Given the description of an element on the screen output the (x, y) to click on. 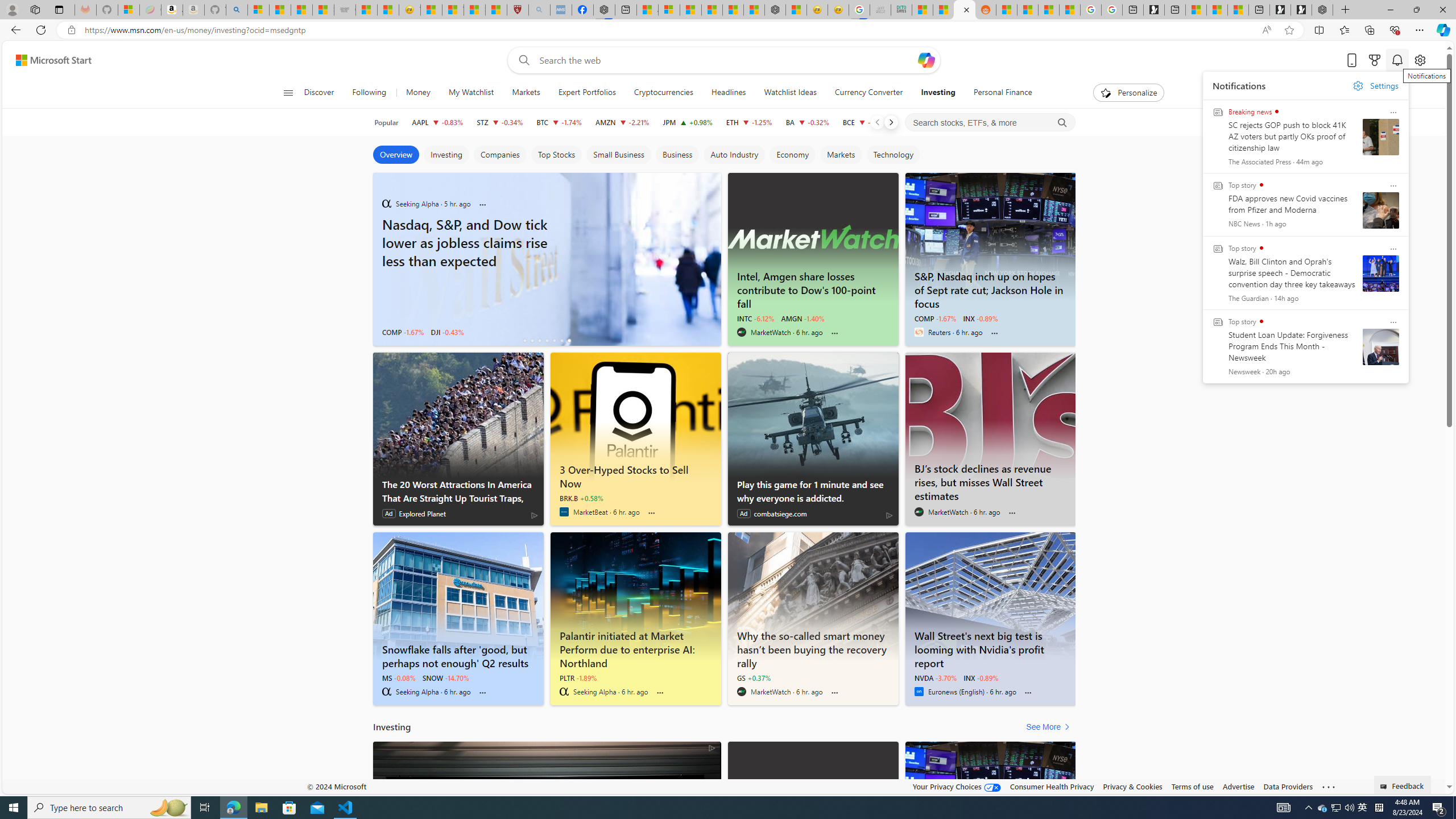
Web search (520, 60)
Personalize (1128, 92)
Economy (791, 154)
